Given the description of an element on the screen output the (x, y) to click on. 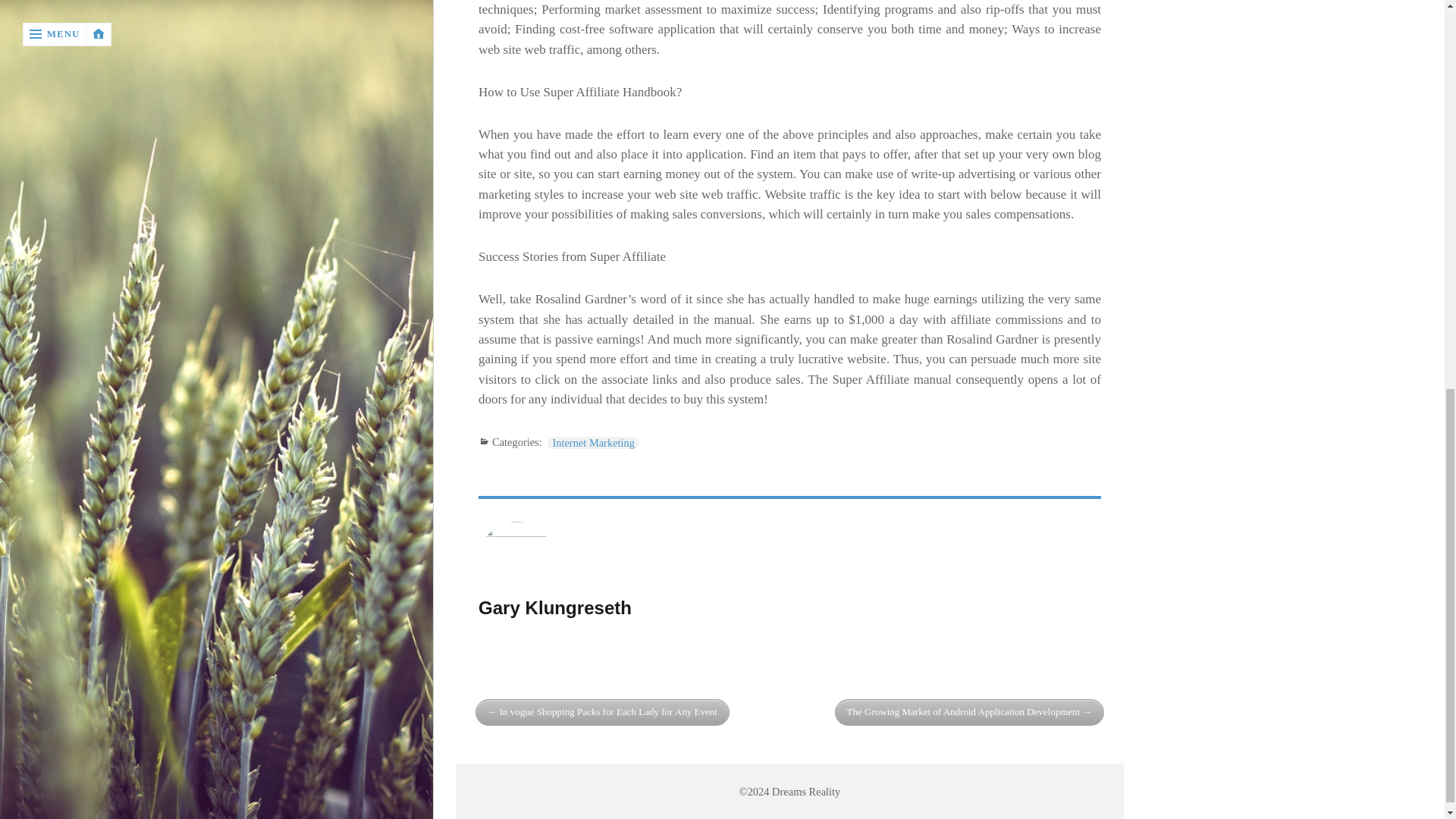
The Growing Market of Android Application Development (969, 712)
Internet Marketing (593, 442)
In vogue Shopping Packs for Each Lady for Any Event (602, 712)
